Given the description of an element on the screen output the (x, y) to click on. 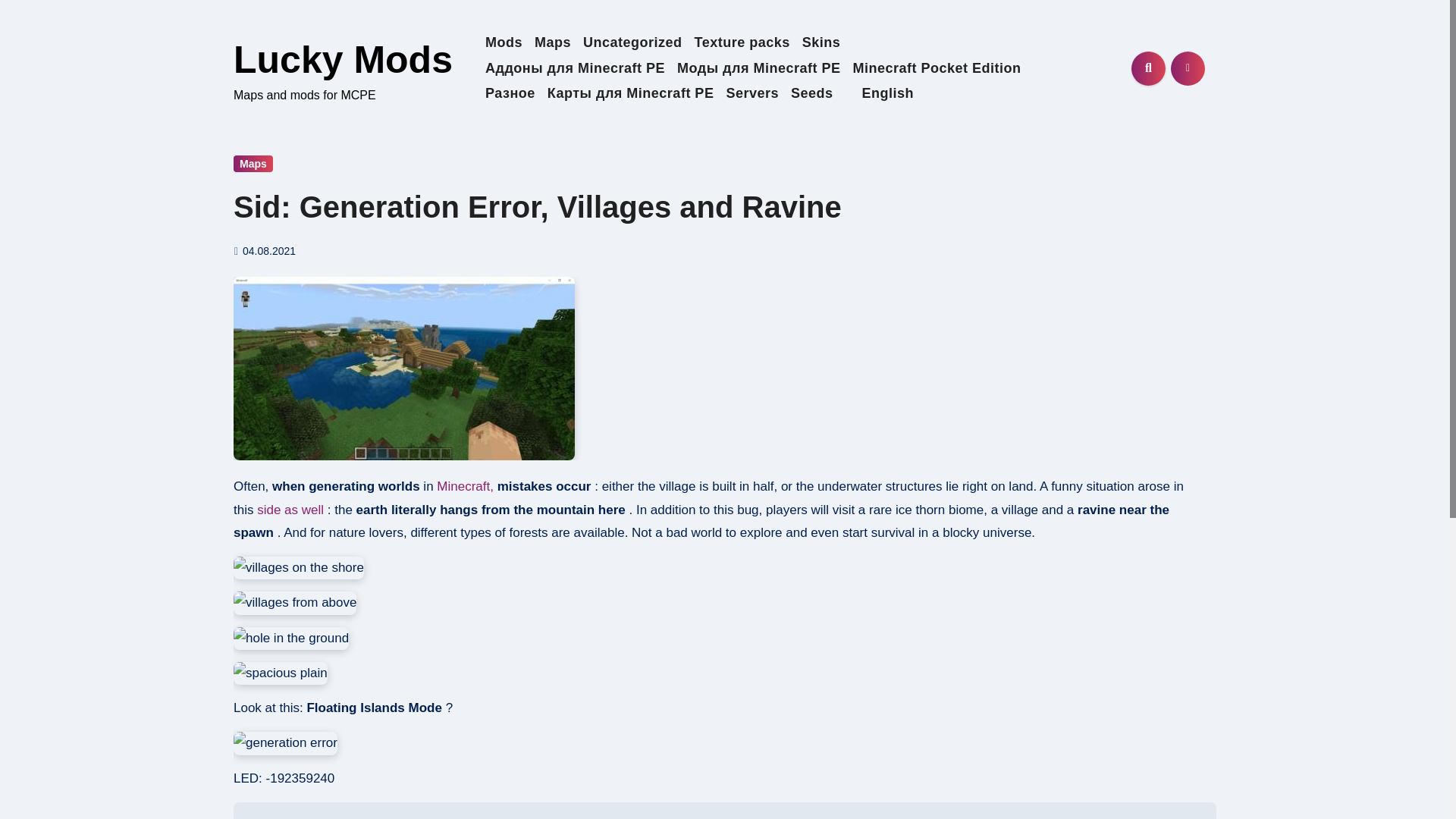
Servers (751, 93)
Mods (503, 42)
Skins (821, 42)
Uncategorized (632, 42)
Servers (751, 93)
Seeds (812, 93)
Maps (552, 42)
Mods (503, 42)
side as well (290, 509)
04.08.2021 (269, 250)
Minecraft,  (466, 486)
Texture packs (742, 42)
Texture packs (742, 42)
Maps (252, 163)
Lucky Mods (342, 59)
